Given the description of an element on the screen output the (x, y) to click on. 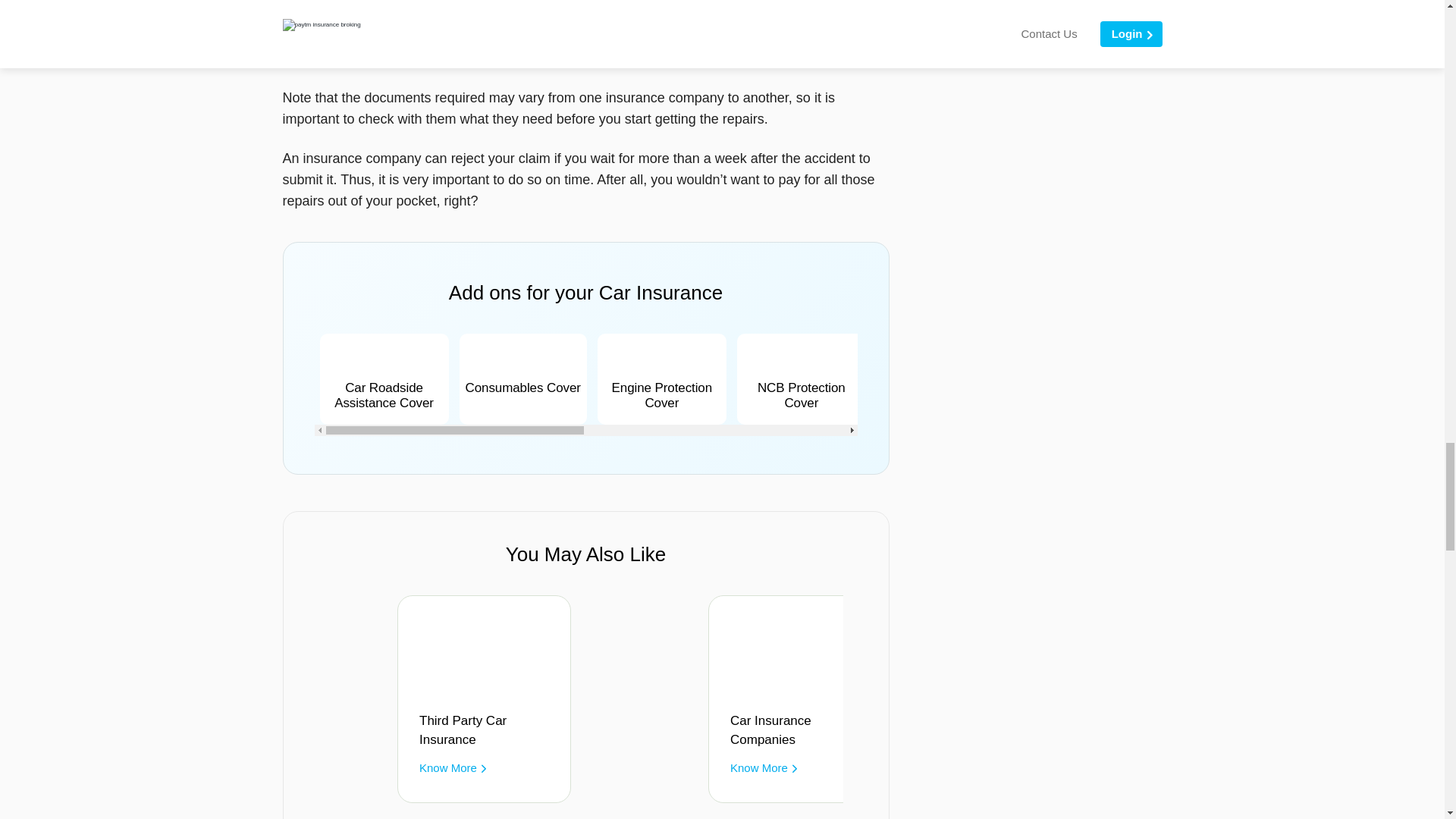
Third Party Car Insurance (488, 730)
Car Insurance Companies (799, 730)
Motor Insurance (1110, 730)
